Given the description of an element on the screen output the (x, y) to click on. 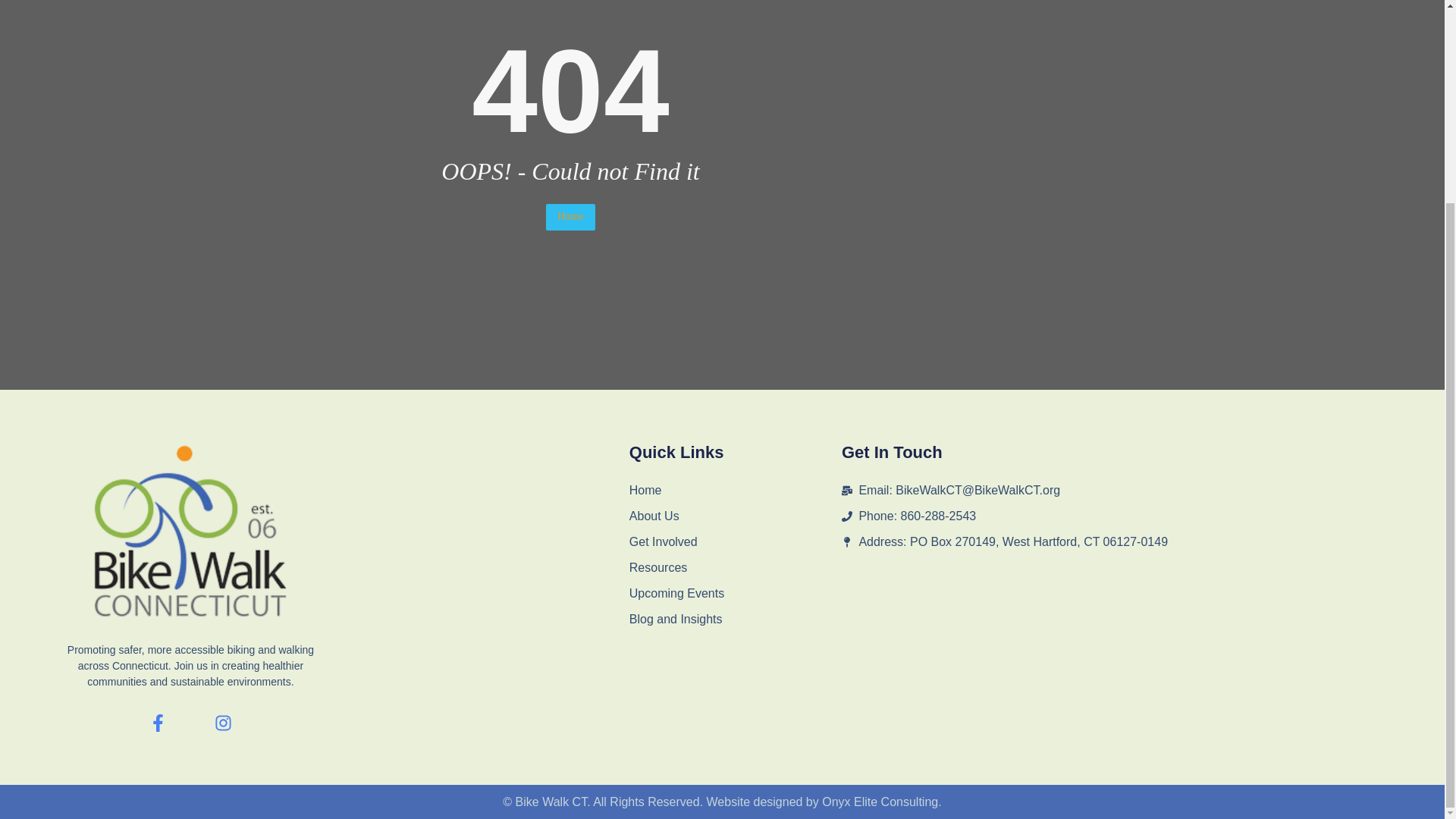
About Us (734, 515)
Blog and Insights (734, 619)
Home (734, 490)
Phone: 860-288-2543 (1102, 515)
Get Involved (734, 542)
Resources (734, 567)
Home (570, 216)
Upcoming Events (734, 593)
